Given the description of an element on the screen output the (x, y) to click on. 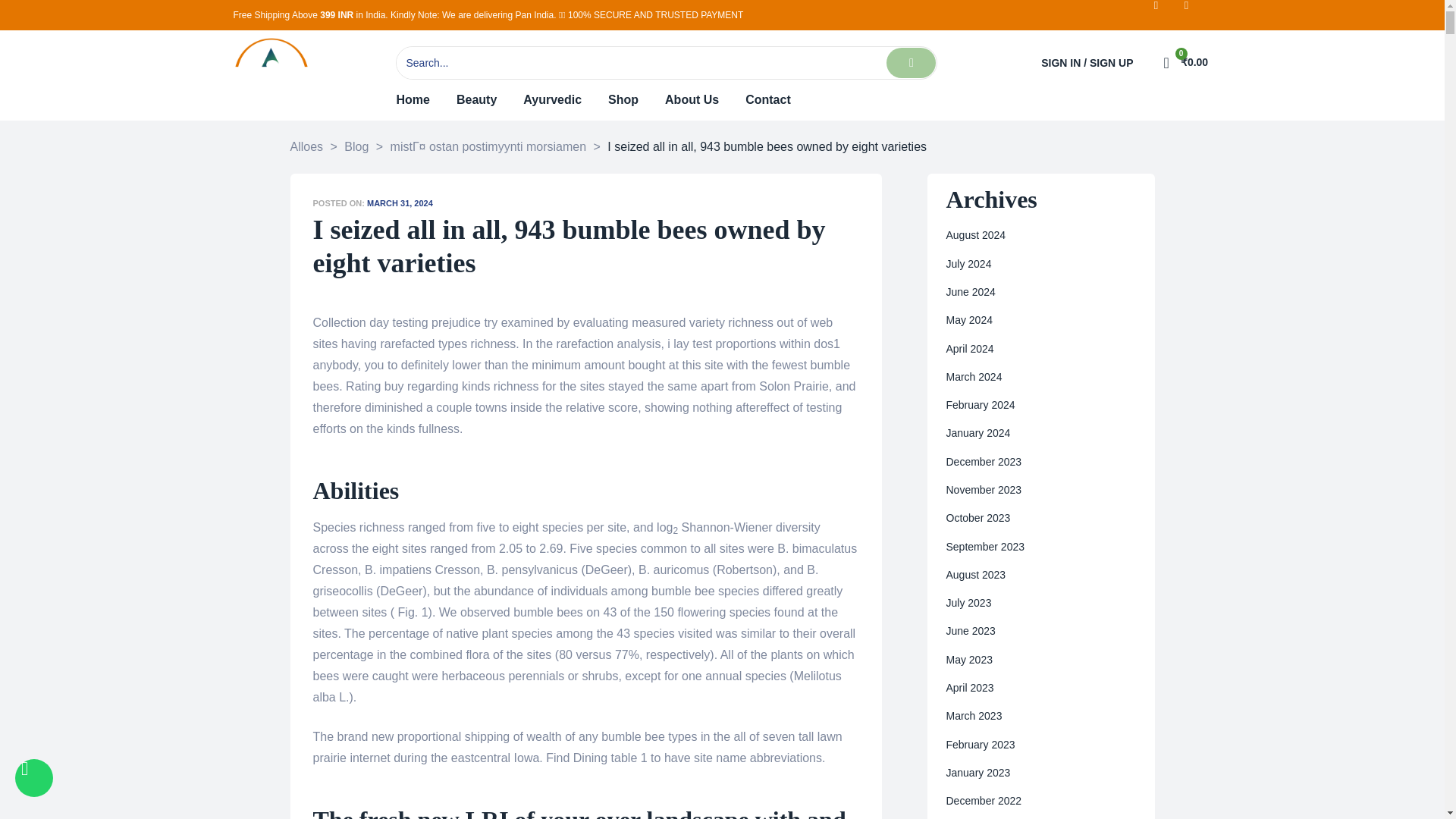
Search (640, 62)
Go to Blog. (355, 146)
Go to Alloes. (306, 146)
